Given the description of an element on the screen output the (x, y) to click on. 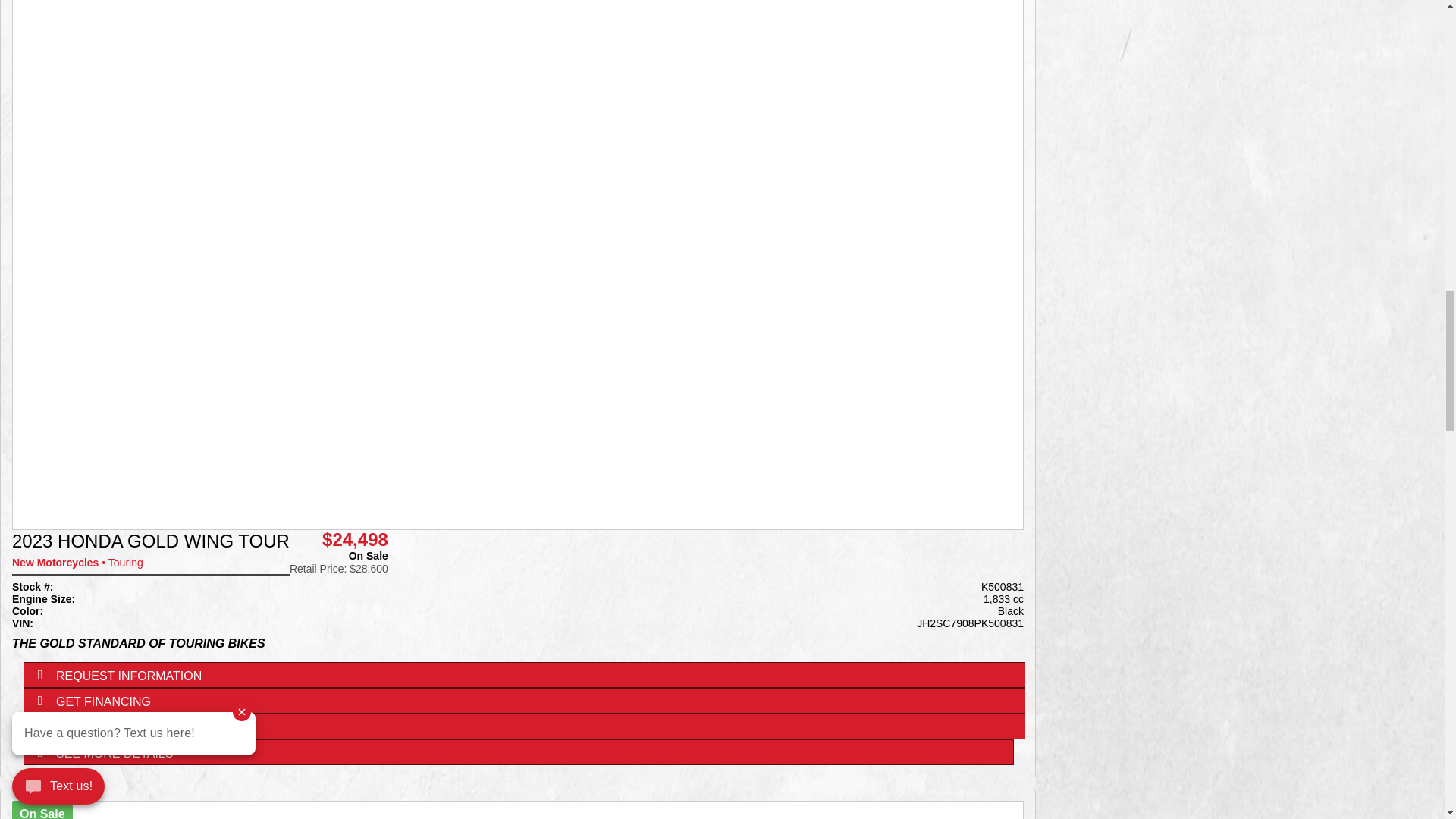
Schedule a Test Ride (524, 726)
Get Financing (524, 700)
See More Details (518, 751)
Request Information (524, 674)
